Given the description of an element on the screen output the (x, y) to click on. 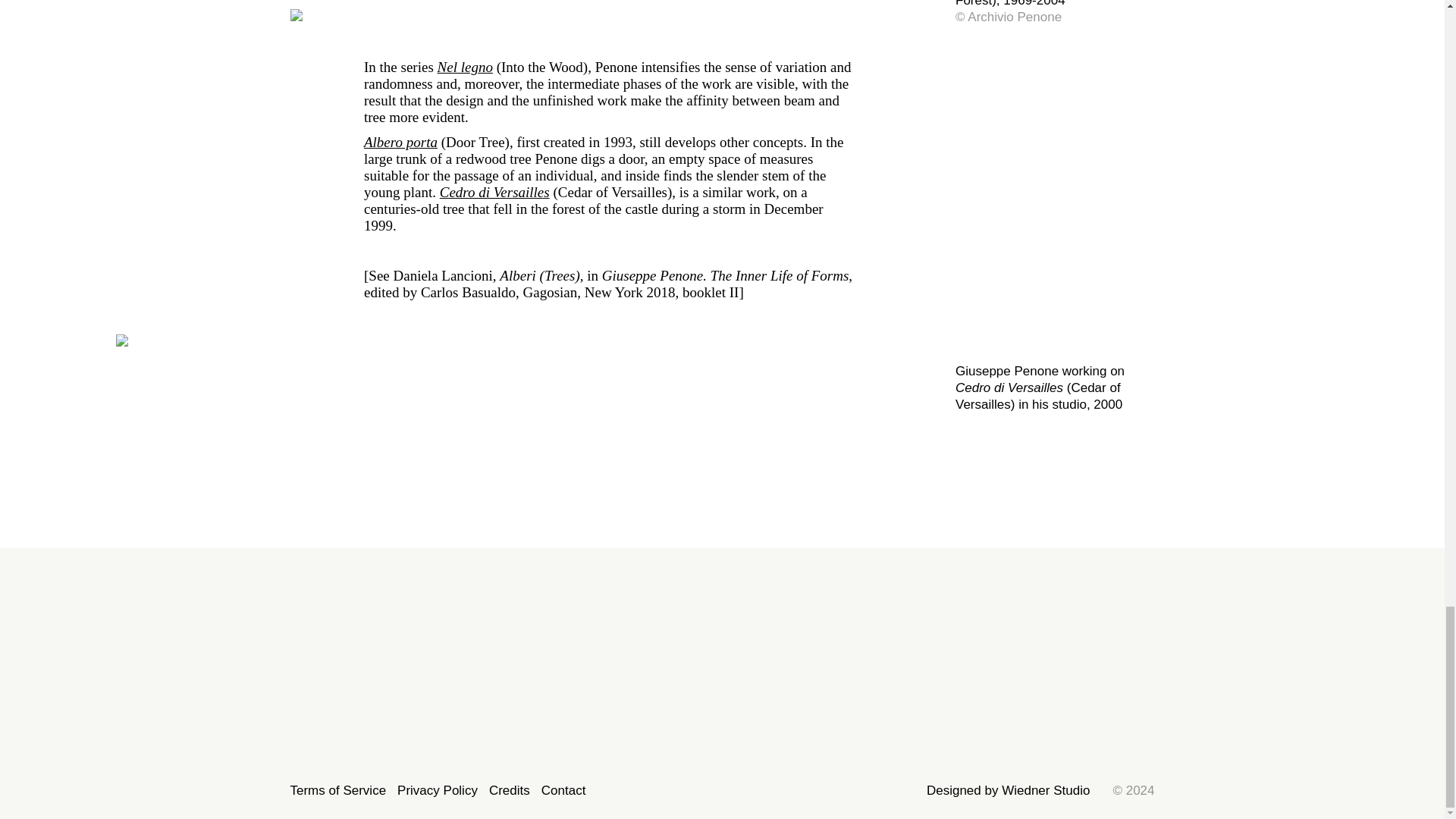
Cedro di Versailles (494, 191)
Privacy Policy (437, 790)
Nel legno (465, 66)
Contact (563, 790)
Designed by Wiedner Studio (1007, 790)
Albero porta (401, 141)
Terms of Service (337, 790)
Credits (509, 790)
